Given the description of an element on the screen output the (x, y) to click on. 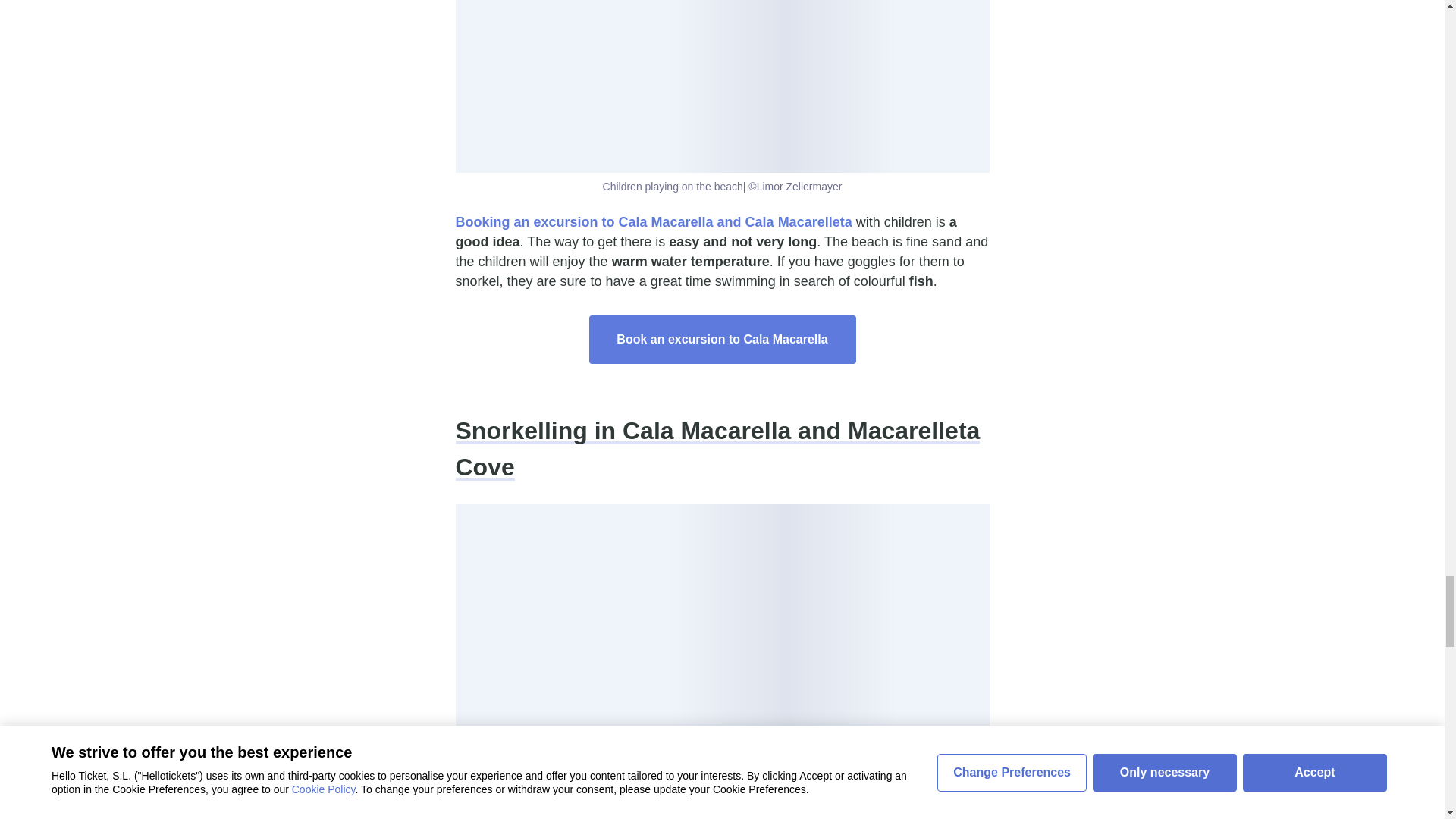
Book an excursion to Cala Macarella (722, 339)
Booking an excursion to Cala Macarella and Cala Macarelleta (652, 222)
